Given the description of an element on the screen output the (x, y) to click on. 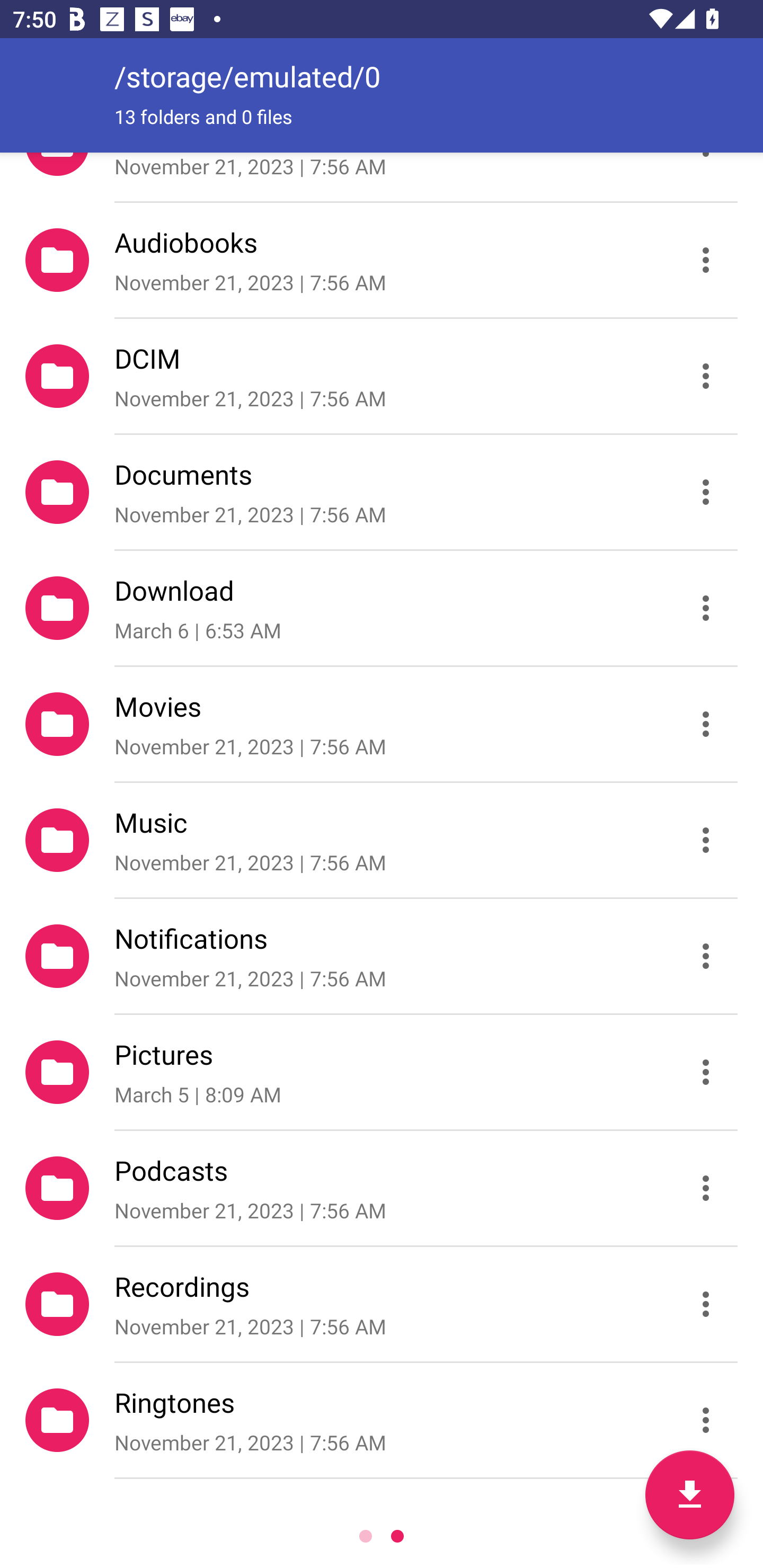
Audiobooks November 21, 2023 | 7:56 AM (381, 259)
DCIM November 21, 2023 | 7:56 AM (381, 375)
Documents November 21, 2023 | 7:56 AM (381, 491)
Download March 6 | 6:53 AM (381, 607)
Movies November 21, 2023 | 7:56 AM (381, 723)
Music November 21, 2023 | 7:56 AM (381, 839)
Notifications November 21, 2023 | 7:56 AM (381, 955)
Pictures March 5 | 8:09 AM (381, 1071)
Podcasts November 21, 2023 | 7:56 AM (381, 1187)
Recordings November 21, 2023 | 7:56 AM (381, 1303)
Ringtones November 21, 2023 | 7:56 AM (381, 1419)
